Given the description of an element on the screen output the (x, y) to click on. 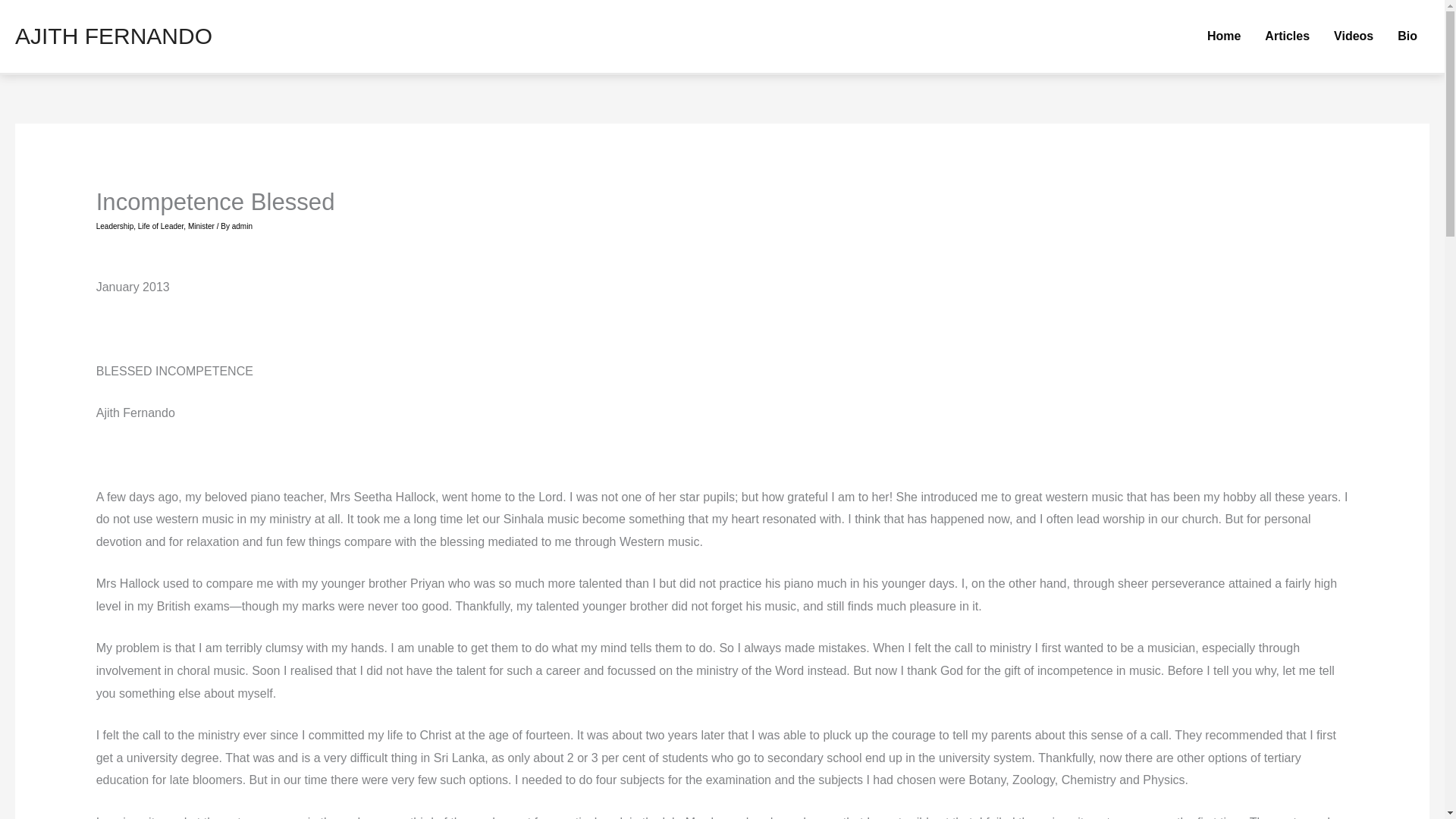
AJITH FERNANDO (113, 35)
admin (241, 225)
Videos (1354, 36)
View all posts by admin (241, 225)
Leadership, Life of Leader, Minister (155, 225)
Articles (1287, 36)
Bio (1407, 36)
Home (1223, 36)
